Given the description of an element on the screen output the (x, y) to click on. 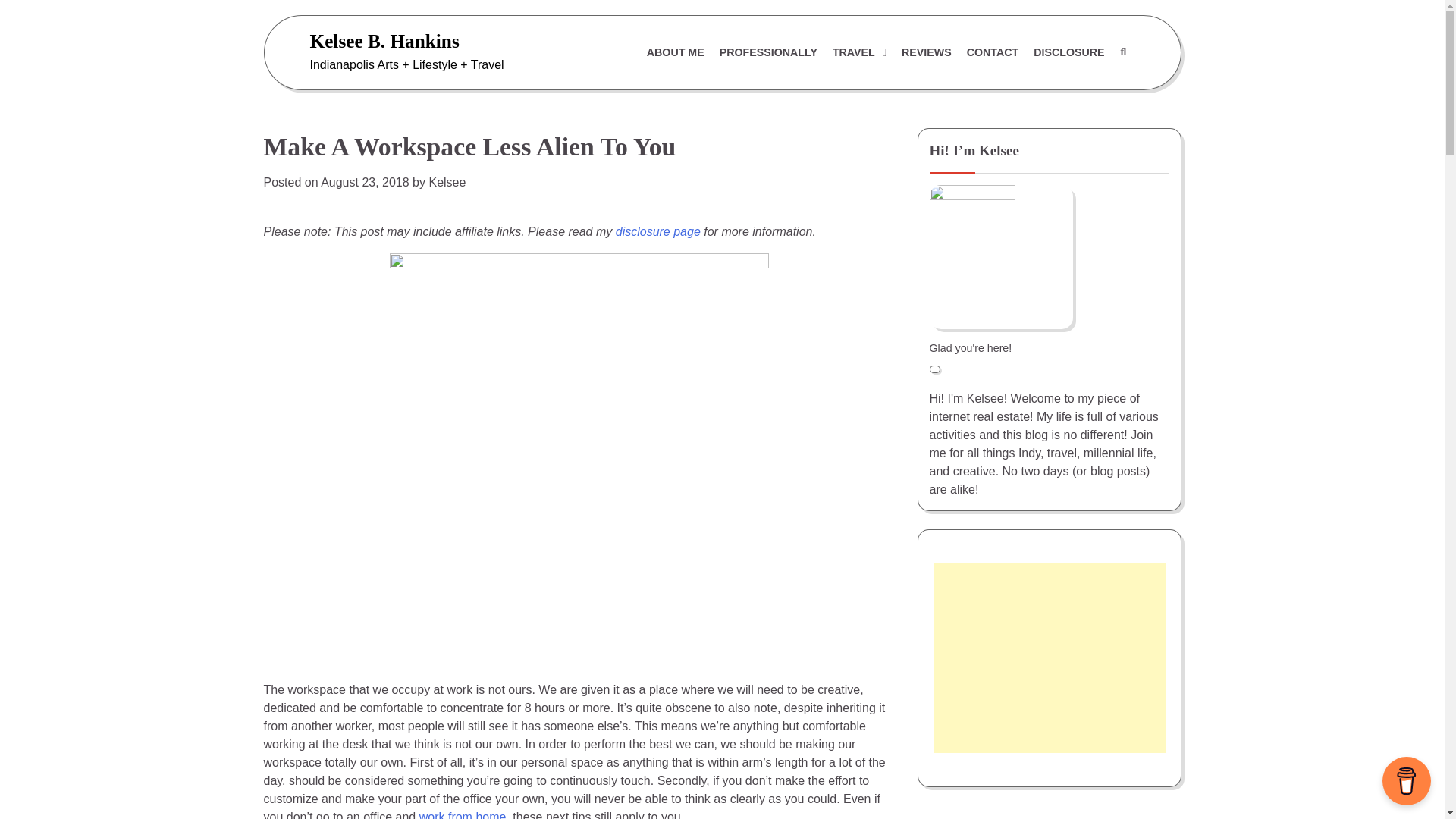
Kelsee (446, 182)
TRAVEL (859, 51)
Search (1123, 51)
REVIEWS (926, 51)
August 23, 2018 (364, 182)
DISCLOSURE (1069, 51)
disclosure page (657, 231)
CONTACT (992, 51)
Advertisement (1048, 657)
ABOUT ME (675, 51)
PROFESSIONALLY (768, 51)
Search (1086, 88)
work from home (462, 814)
Kelsee B. Hankins (383, 40)
